Given the description of an element on the screen output the (x, y) to click on. 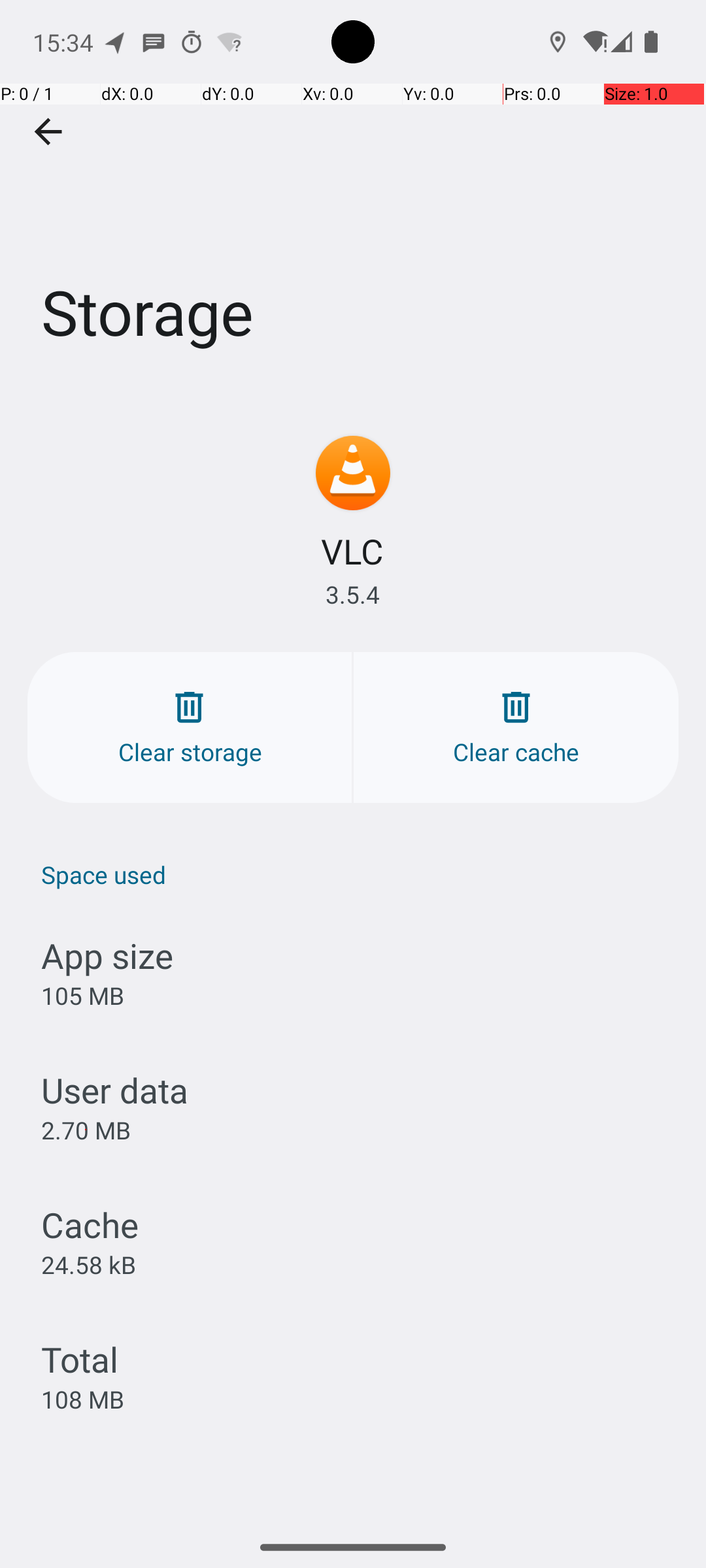
3.5.4 Element type: android.widget.TextView (352, 593)
105 MB Element type: android.widget.TextView (82, 995)
2.70 MB Element type: android.widget.TextView (85, 1129)
24.58 kB Element type: android.widget.TextView (88, 1264)
108 MB Element type: android.widget.TextView (82, 1398)
